Given the description of an element on the screen output the (x, y) to click on. 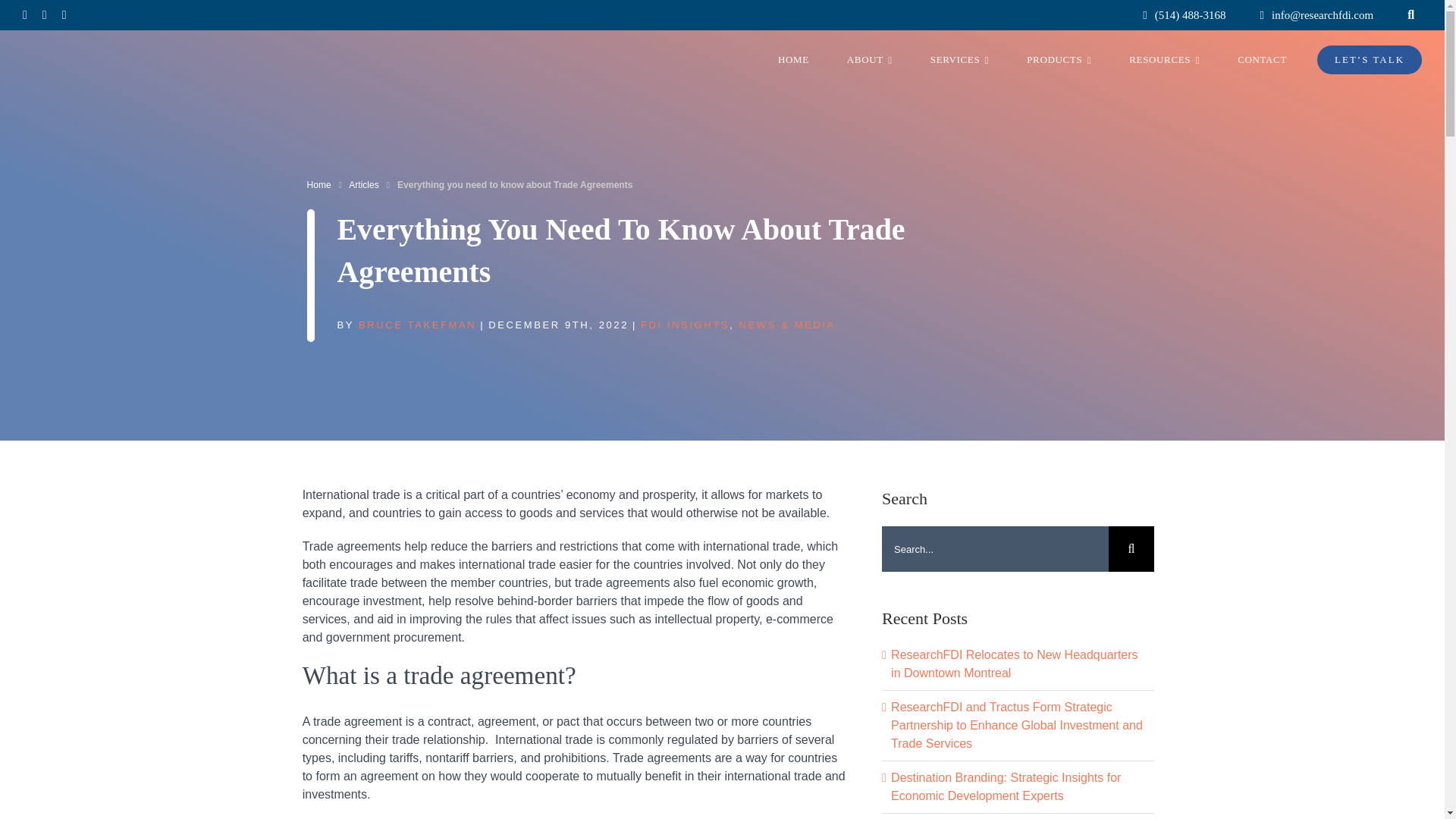
ABOUT (869, 59)
HOME (793, 59)
Posts by Bruce Takefman (417, 324)
SERVICES (959, 59)
